Given the description of an element on the screen output the (x, y) to click on. 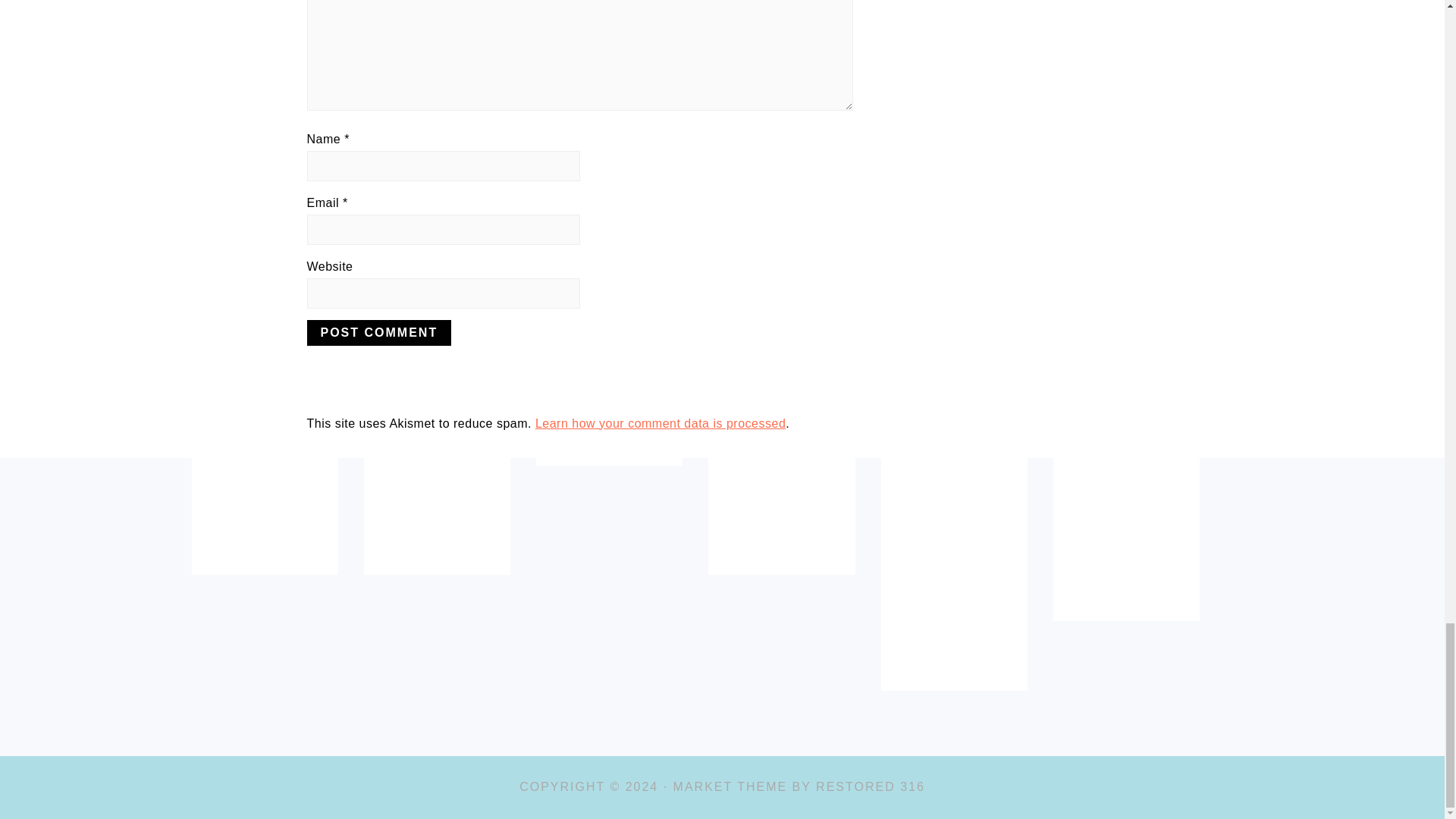
A Comprehensive Guide to Inspecting a Used Car Before Buying (780, 507)
Post Comment (378, 332)
The Language of Flowers: A Comprehensive Guide (1126, 530)
How To Find the Right Pediatric Dentist for Your Child (264, 508)
Post Comment (378, 332)
Learn how your comment data is processed (660, 422)
